Given the description of an element on the screen output the (x, y) to click on. 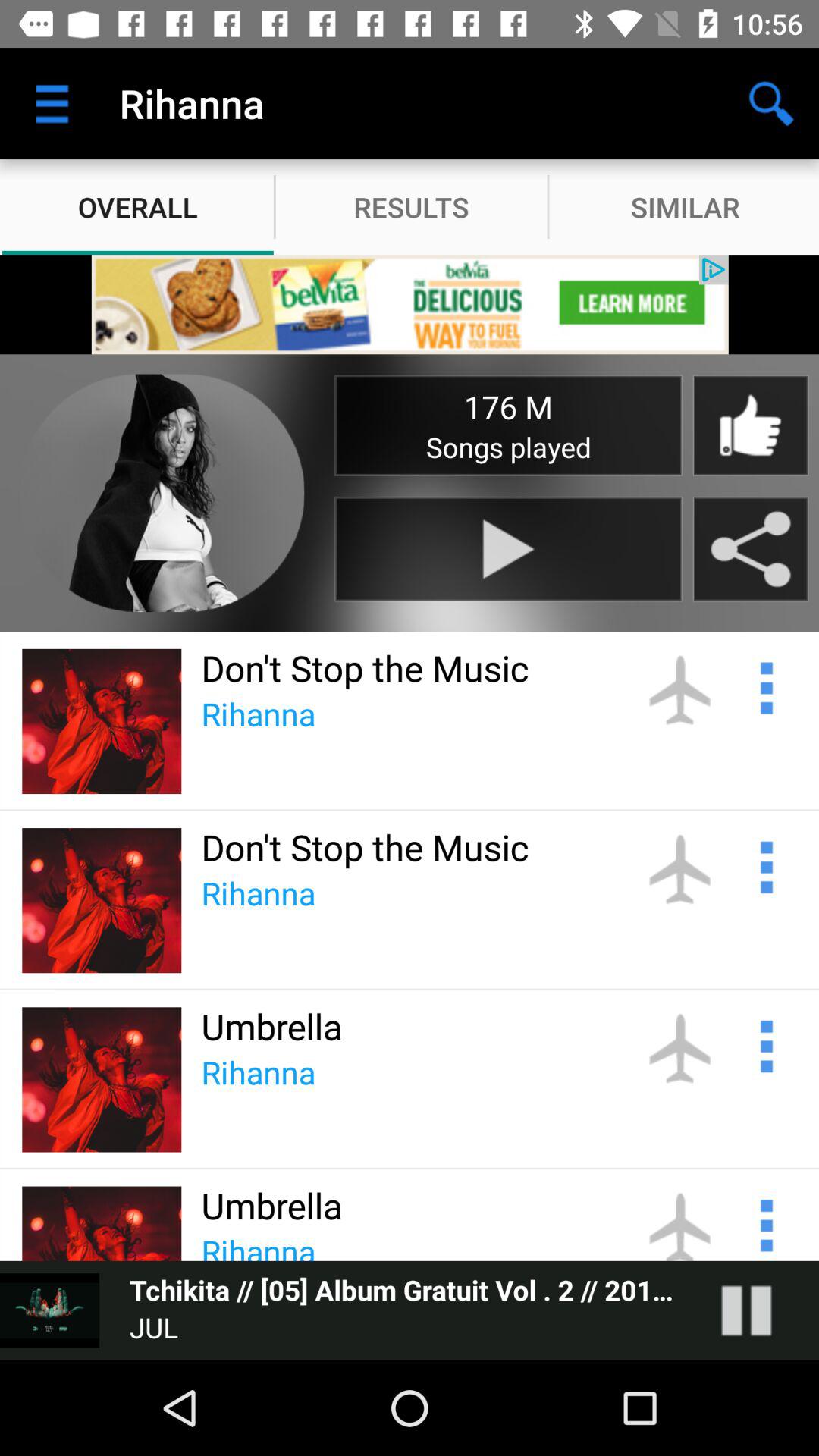
see options (764, 1223)
